Given the description of an element on the screen output the (x, y) to click on. 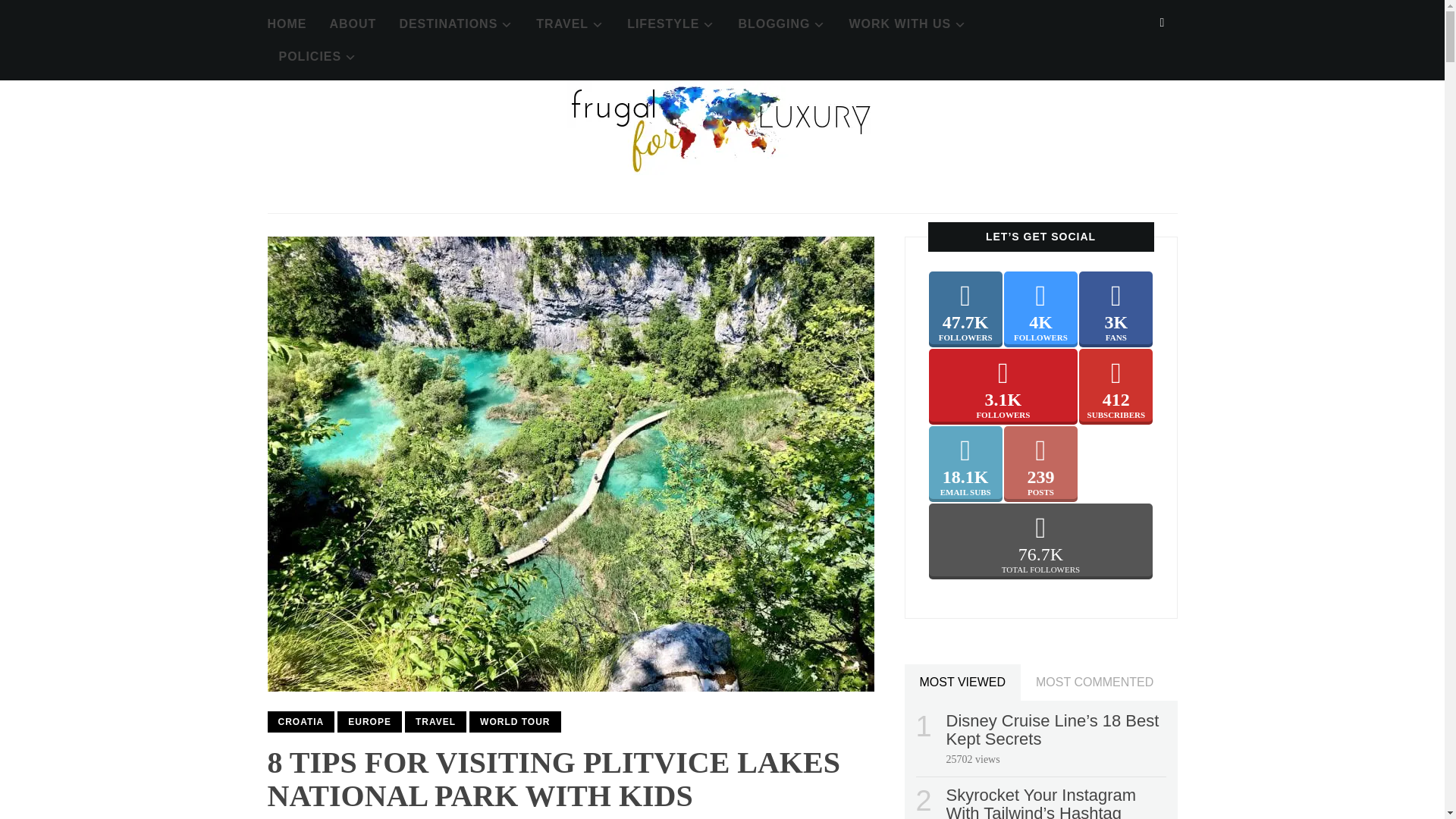
ABOUT (352, 23)
HOME (285, 23)
DESTINATIONS (455, 23)
Most Commented (1094, 682)
Most Viewed (962, 682)
